Given the description of an element on the screen output the (x, y) to click on. 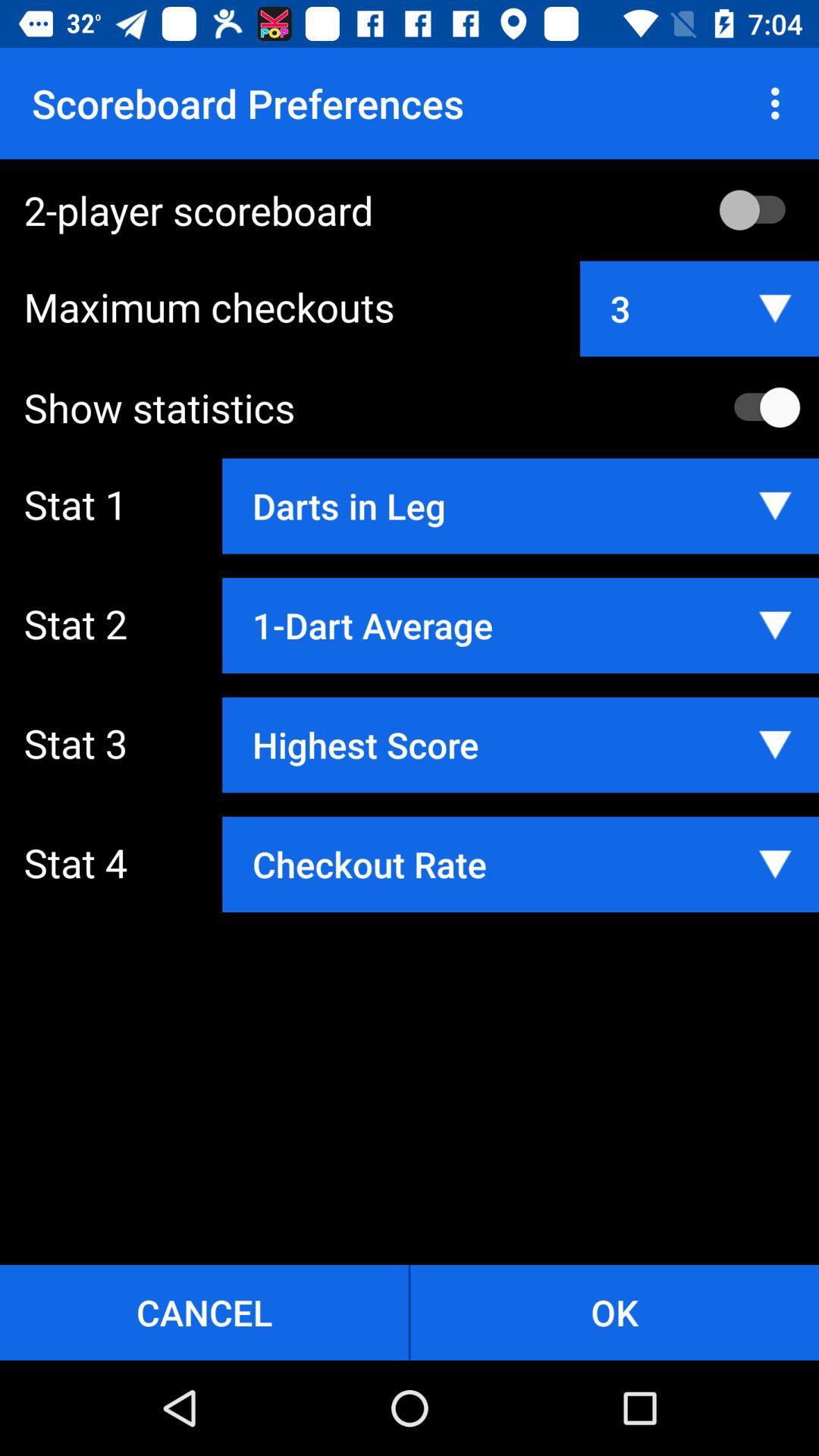
jump to 2-player scoreboard icon (421, 210)
